Given the description of an element on the screen output the (x, y) to click on. 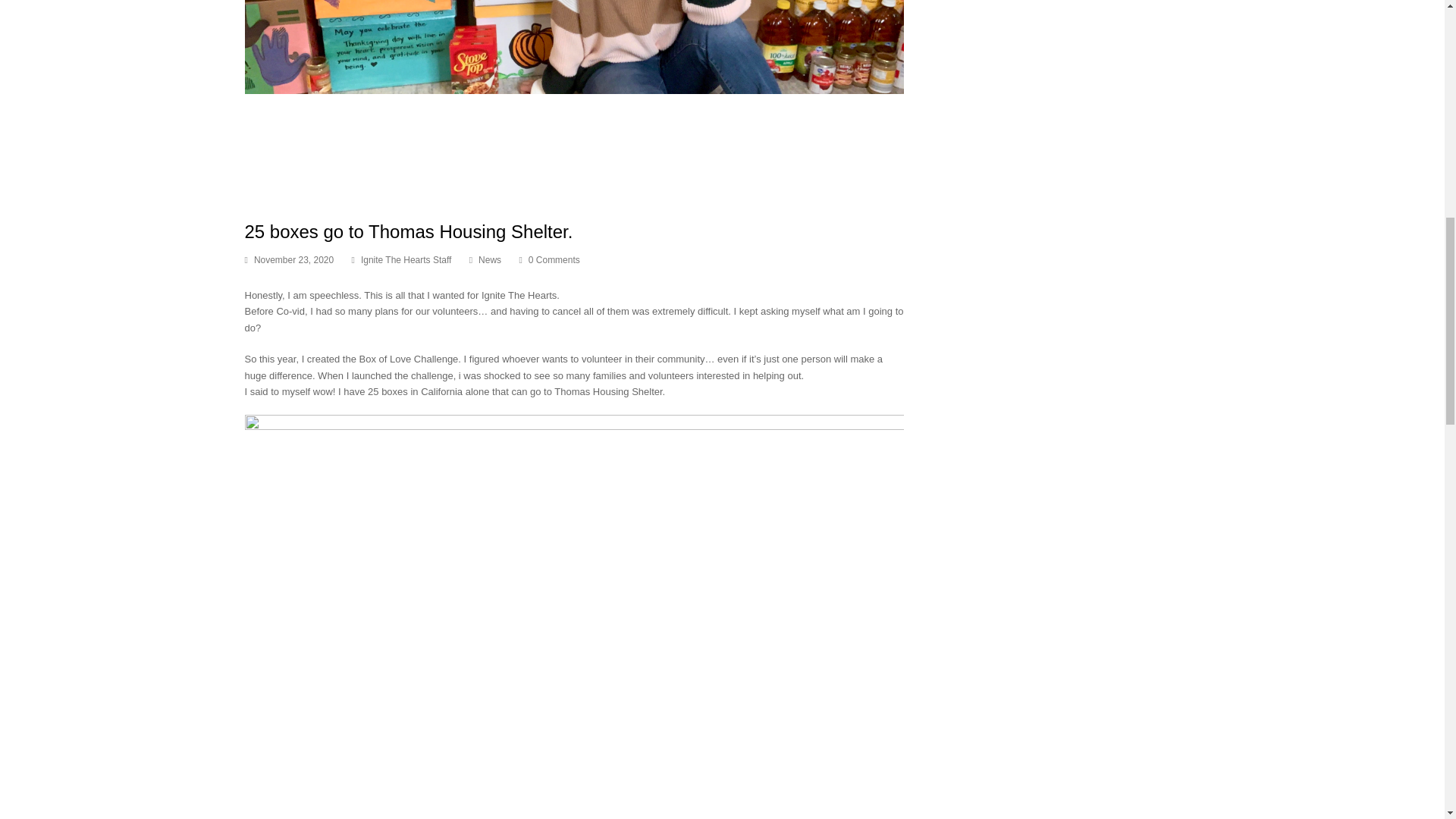
Posts by Ignite The Hearts Staff (406, 259)
Ignite The Hearts Staff (406, 259)
News (489, 259)
0 Comments (548, 260)
0 Comments (553, 259)
